Given the description of an element on the screen output the (x, y) to click on. 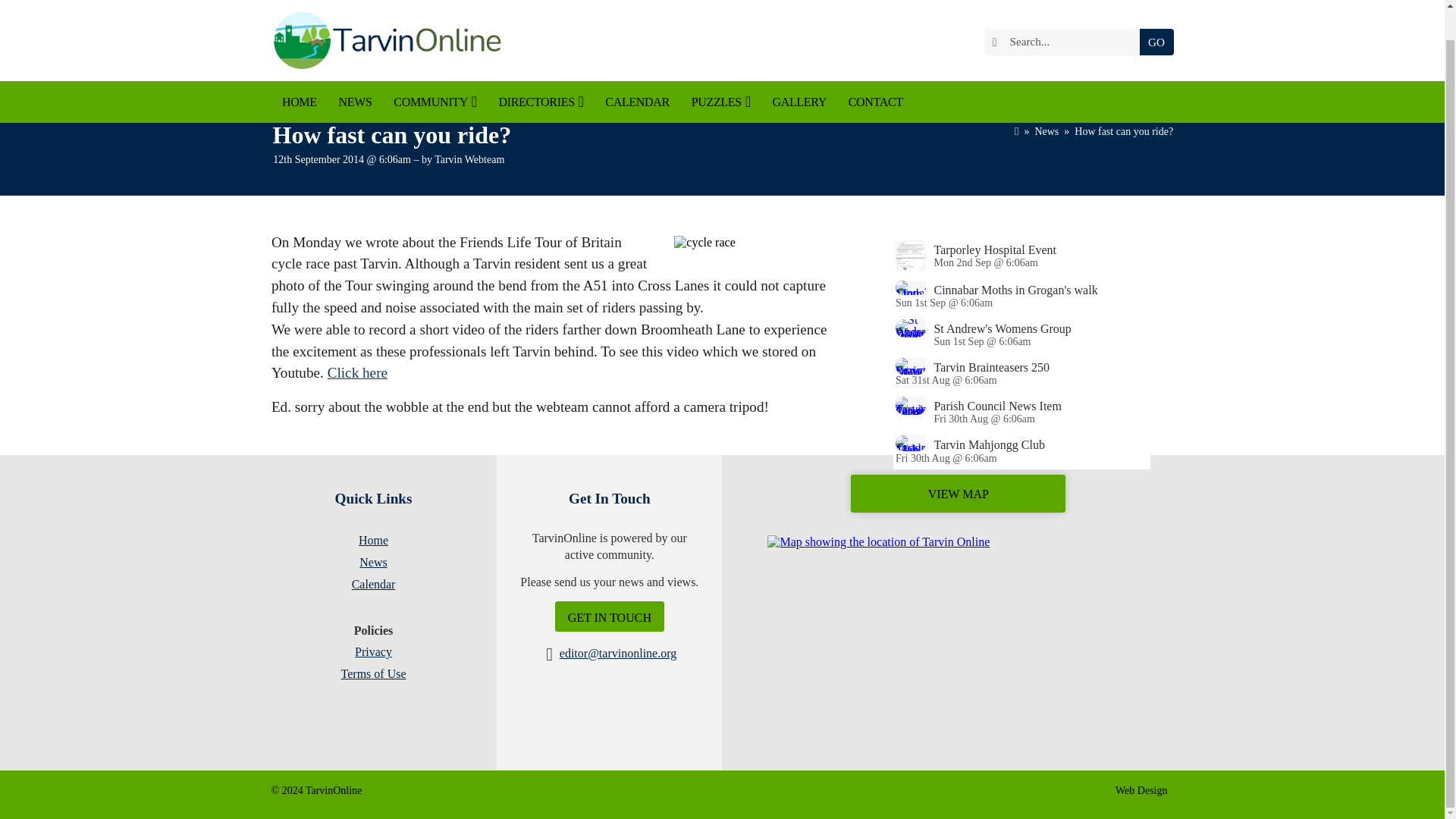
PUZZLES (720, 70)
NEWS (354, 70)
COMMUNITY (434, 70)
Tarvin Online Home (385, 24)
DIRECTORIES (540, 70)
Search... (1065, 12)
CALENDAR (636, 70)
Visit our Facebook Page (961, 10)
HOME (299, 70)
